Given the description of an element on the screen output the (x, y) to click on. 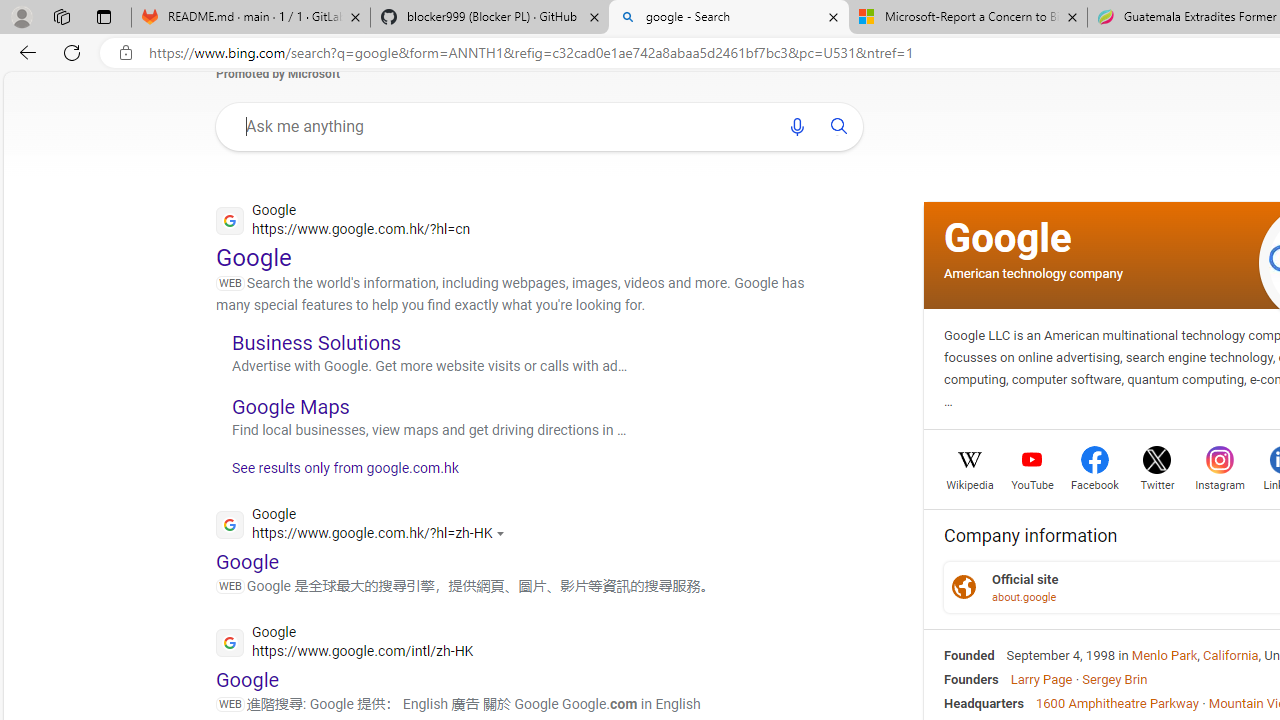
Founders (971, 678)
Twitter (1156, 483)
Menlo Park (1164, 655)
google - Search (729, 17)
Facebook (1094, 483)
Headquarters (984, 702)
Sergey Brin (1114, 678)
Microsoft-Report a Concern to Bing (967, 17)
Search using voice (797, 125)
Refresh (72, 52)
Google Maps (290, 406)
Back (24, 52)
See results only from google.com.hk (337, 473)
California (1231, 655)
